Given the description of an element on the screen output the (x, y) to click on. 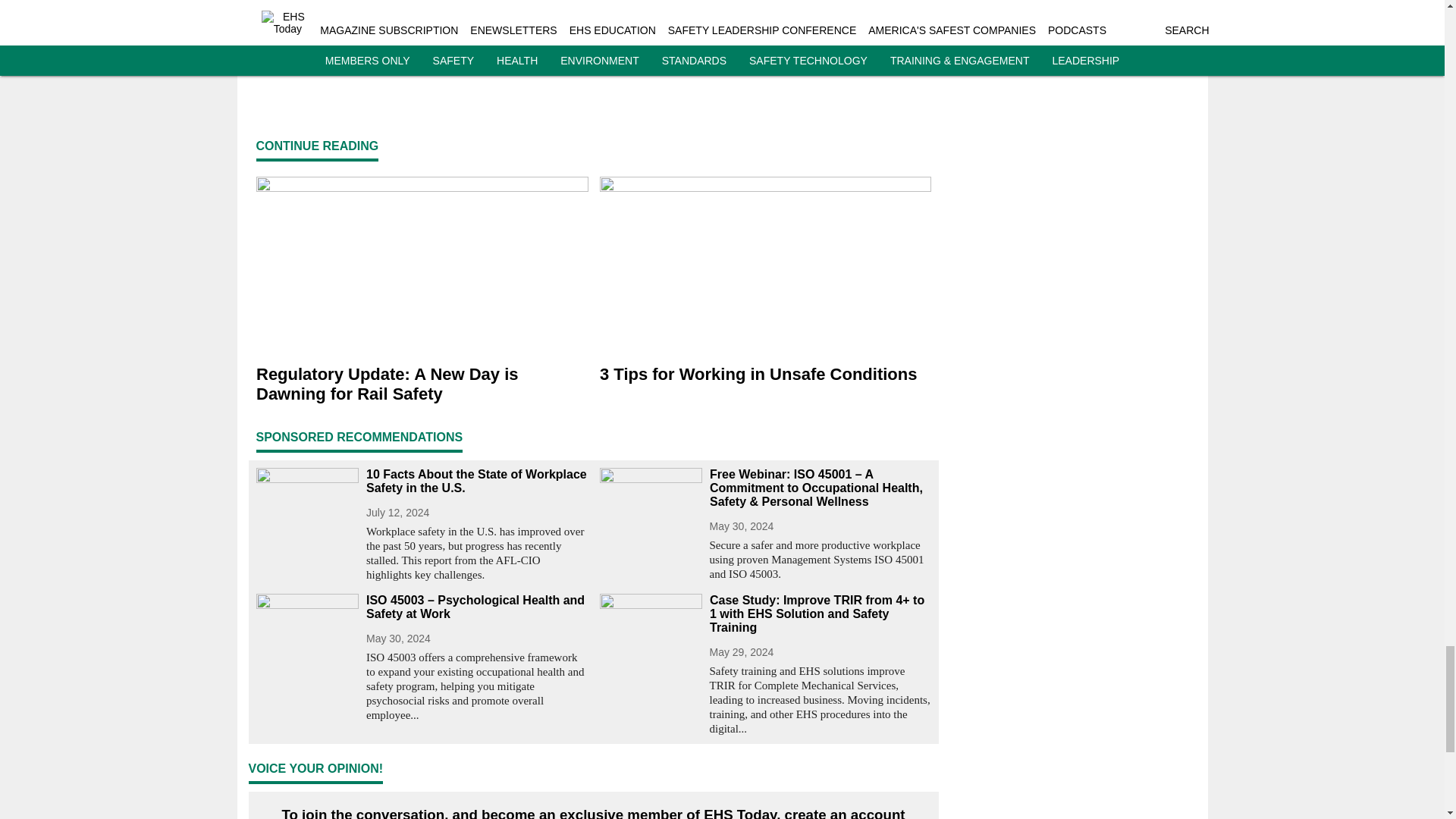
10 Facts About the State of Workplace Safety in the U.S. (476, 481)
Regulatory Update: A New Day is Dawning for Rail Safety (422, 384)
3 Tips for Working in Unsafe Conditions (764, 374)
